Given the description of an element on the screen output the (x, y) to click on. 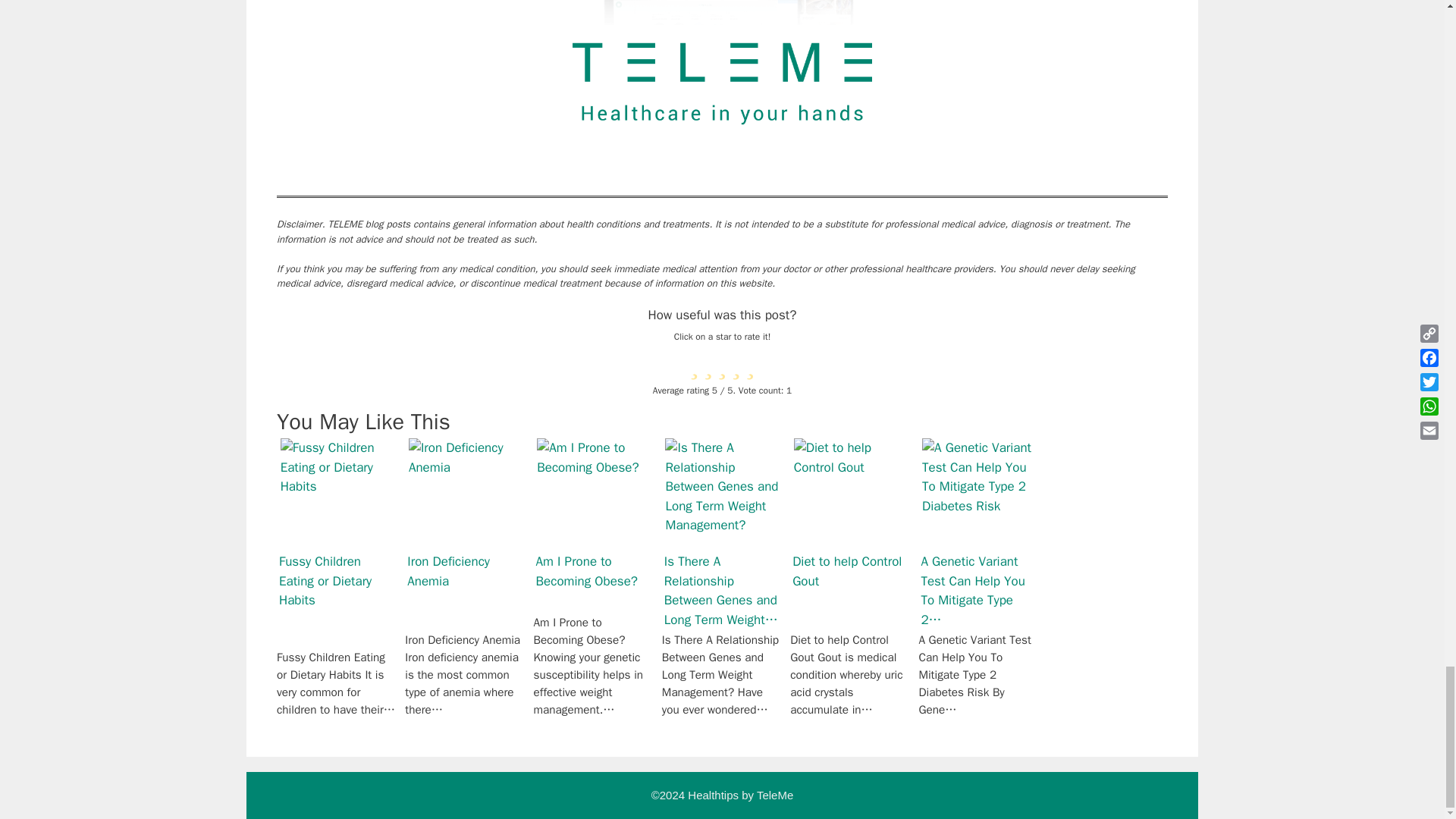
Iron Deficiency Anemia (465, 495)
Am I Prone to Becoming Obese? (593, 495)
Diet to help Control Gout (850, 495)
Fussy Children Eating or Dietary Habits (337, 495)
